Given the description of an element on the screen output the (x, y) to click on. 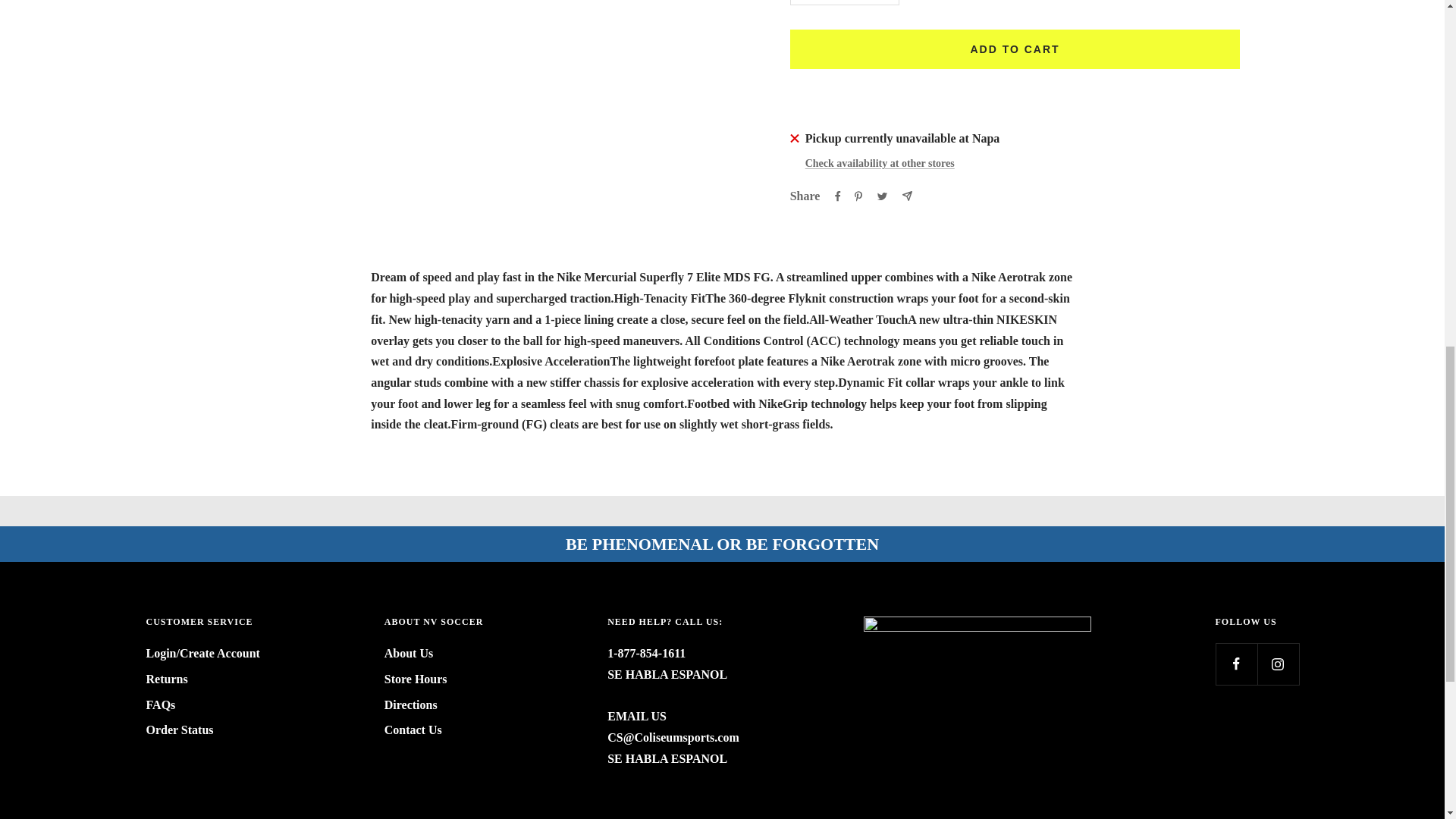
1 (844, 2)
